Given the description of an element on the screen output the (x, y) to click on. 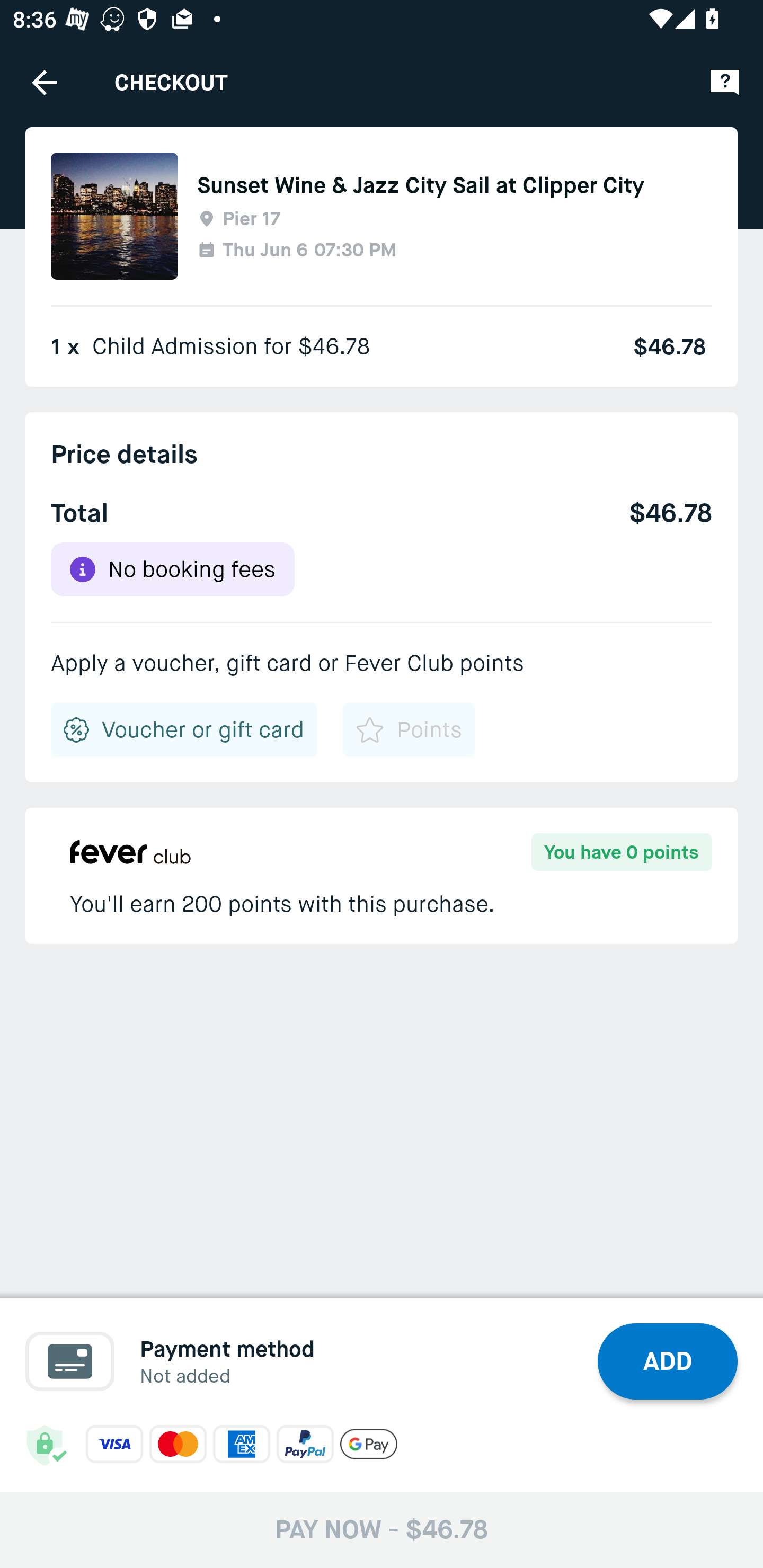
Navigate up (44, 82)
Help (724, 81)
Voucher or gift card (184, 729)
Points (408, 729)
ADD (667, 1361)
PAY NOW - $46.78 (381, 1529)
